Given the description of an element on the screen output the (x, y) to click on. 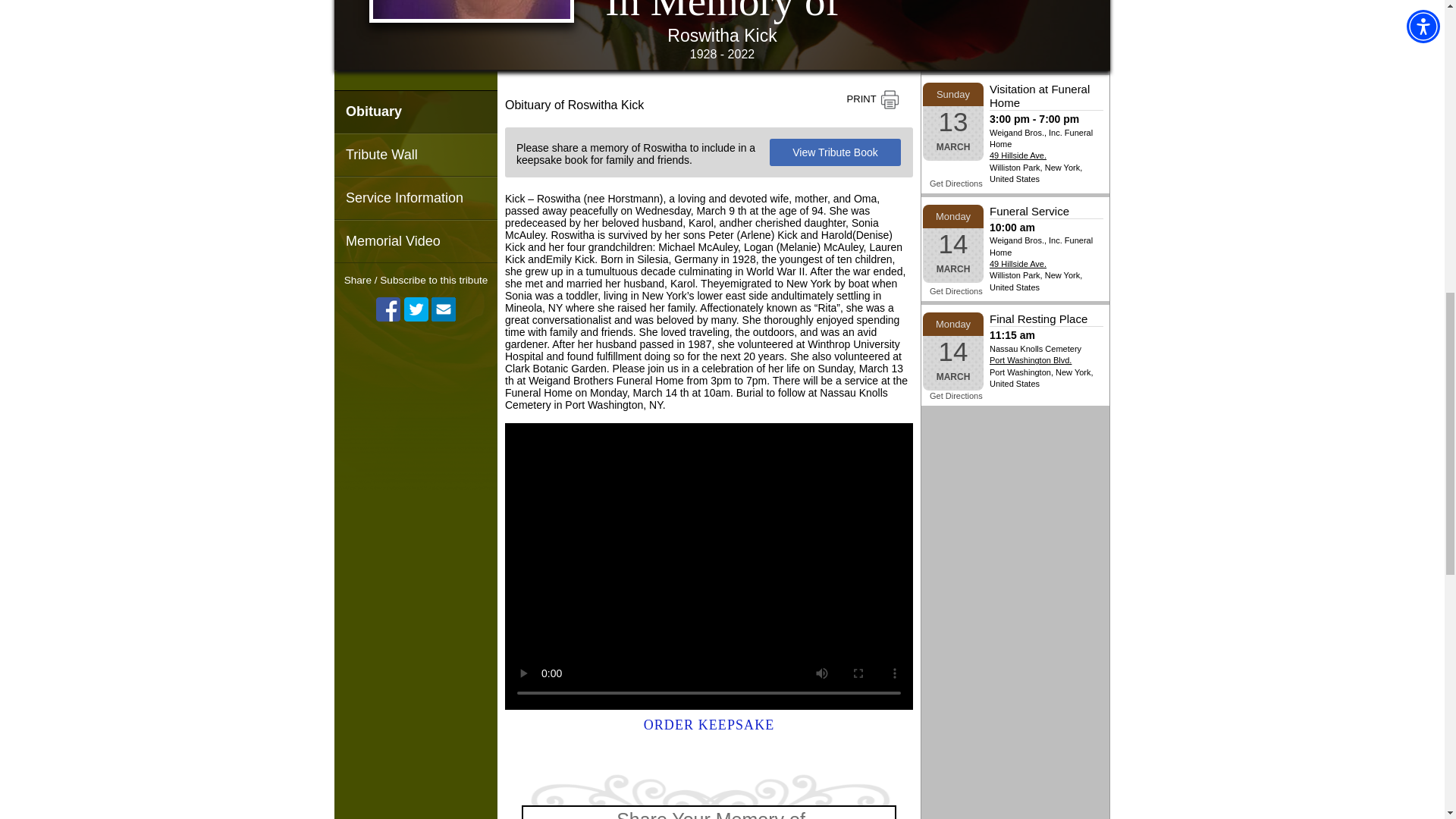
Facebook (387, 309)
Twitter (415, 309)
Receive Notifications (442, 309)
Print (872, 99)
Obituary (415, 111)
Tribute Wall (415, 155)
Memorial Video (415, 241)
Service Information (415, 198)
